Given the description of an element on the screen output the (x, y) to click on. 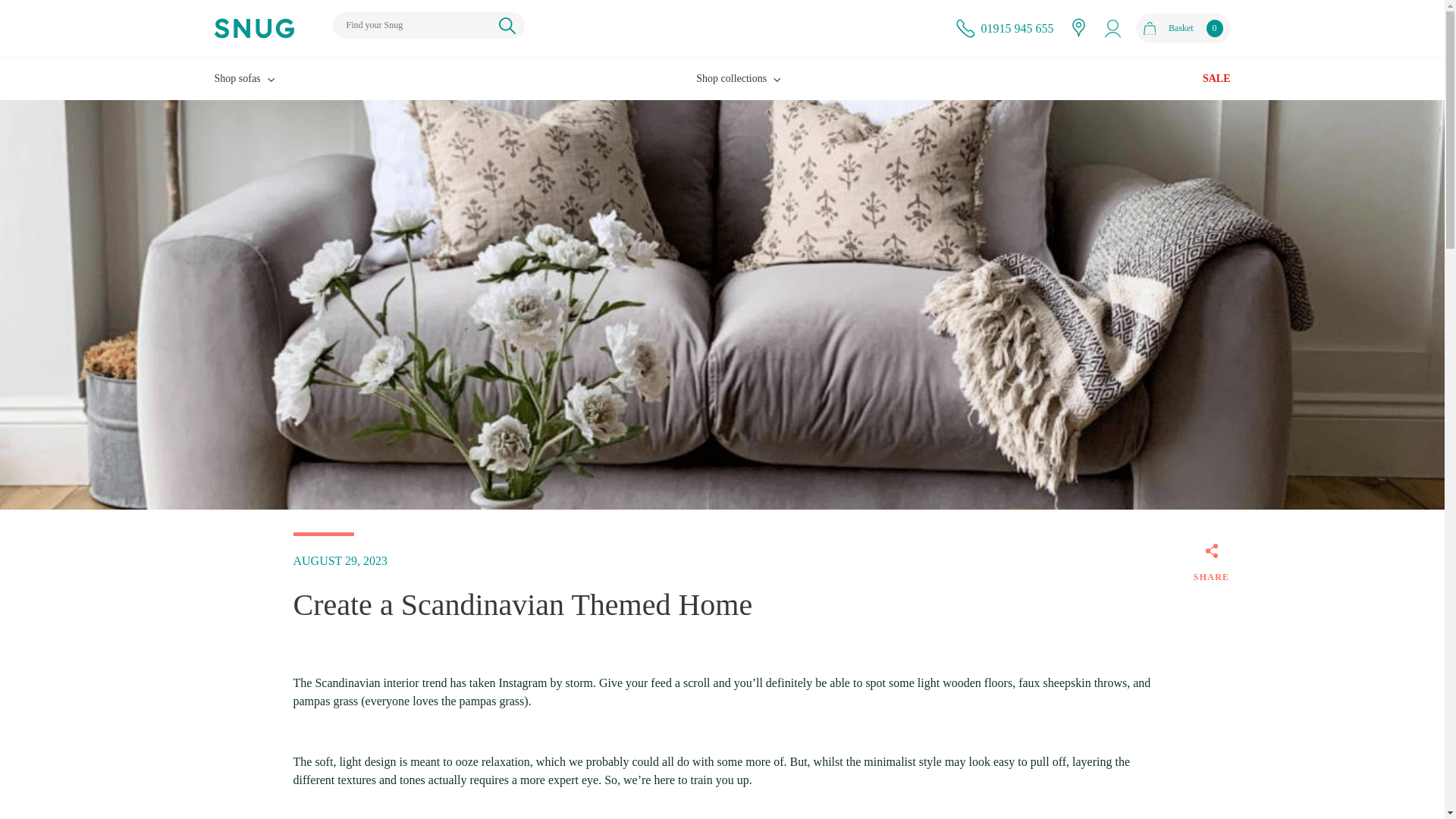
01915 945 655 (1017, 27)
